Given the description of an element on the screen output the (x, y) to click on. 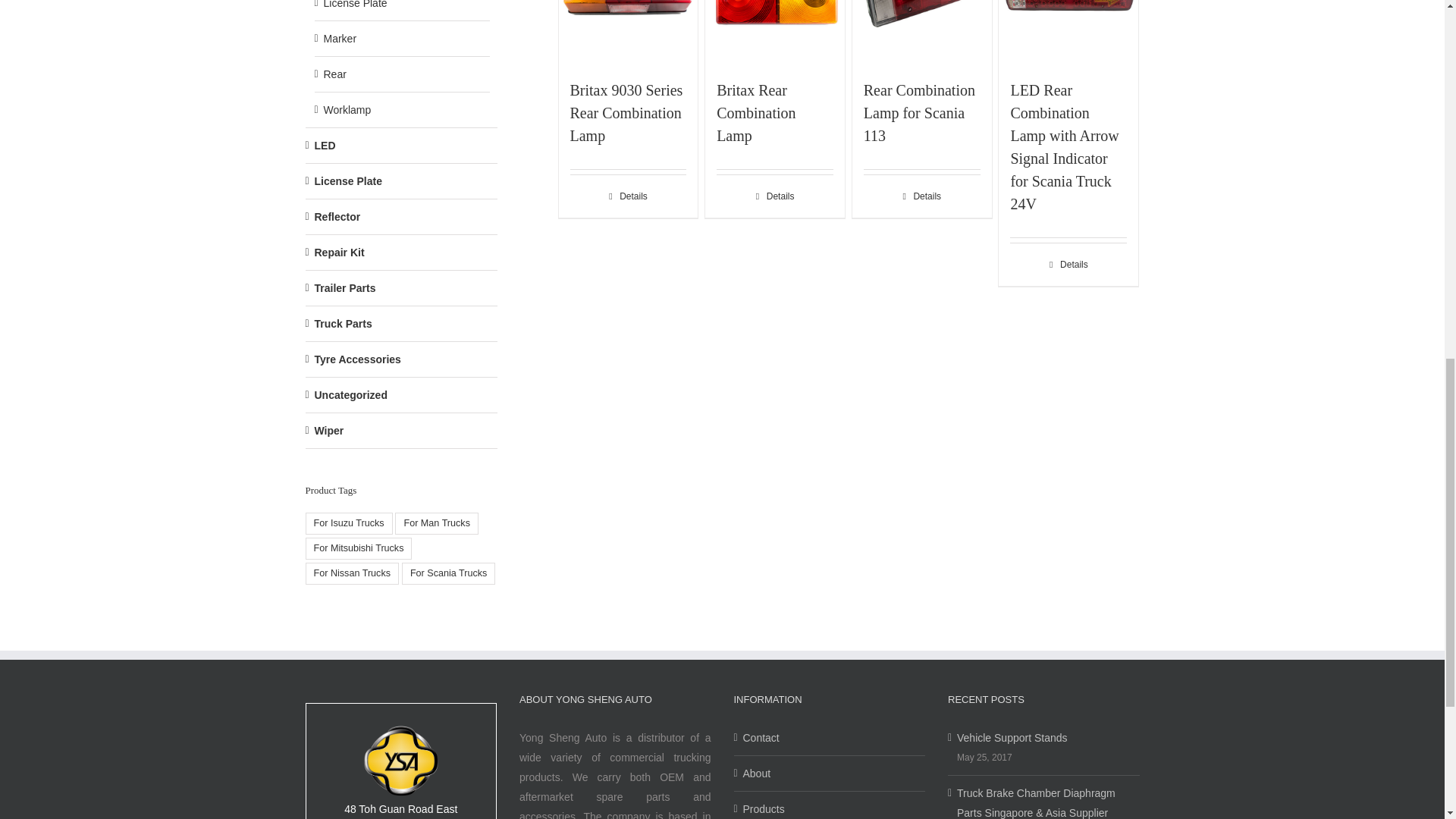
Details (628, 196)
Britax 9030 Series Rear Combination Lamp (626, 112)
Britax Rear Combination Lamp (755, 112)
